Given the description of an element on the screen output the (x, y) to click on. 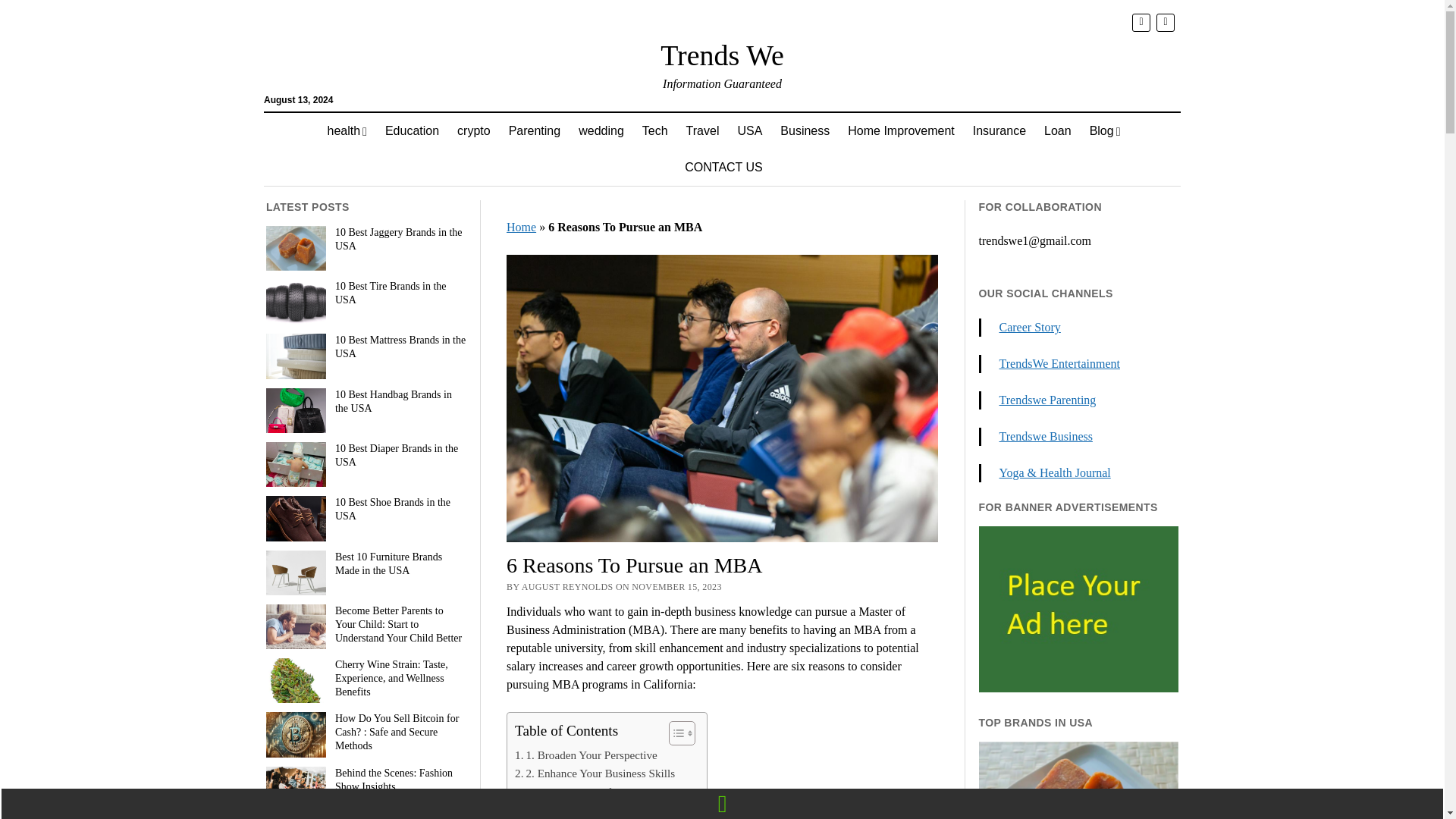
10 Best Jaggery Brands in the USA (365, 239)
Trends We (722, 55)
Tech (655, 131)
2. Enhance Your Business Skills (595, 773)
10 Best Mattress Brands in the USA (365, 347)
Parenting (534, 131)
crypto (473, 131)
Travel (703, 131)
10 Best Diaper Brands in the USA (365, 455)
